Given the description of an element on the screen output the (x, y) to click on. 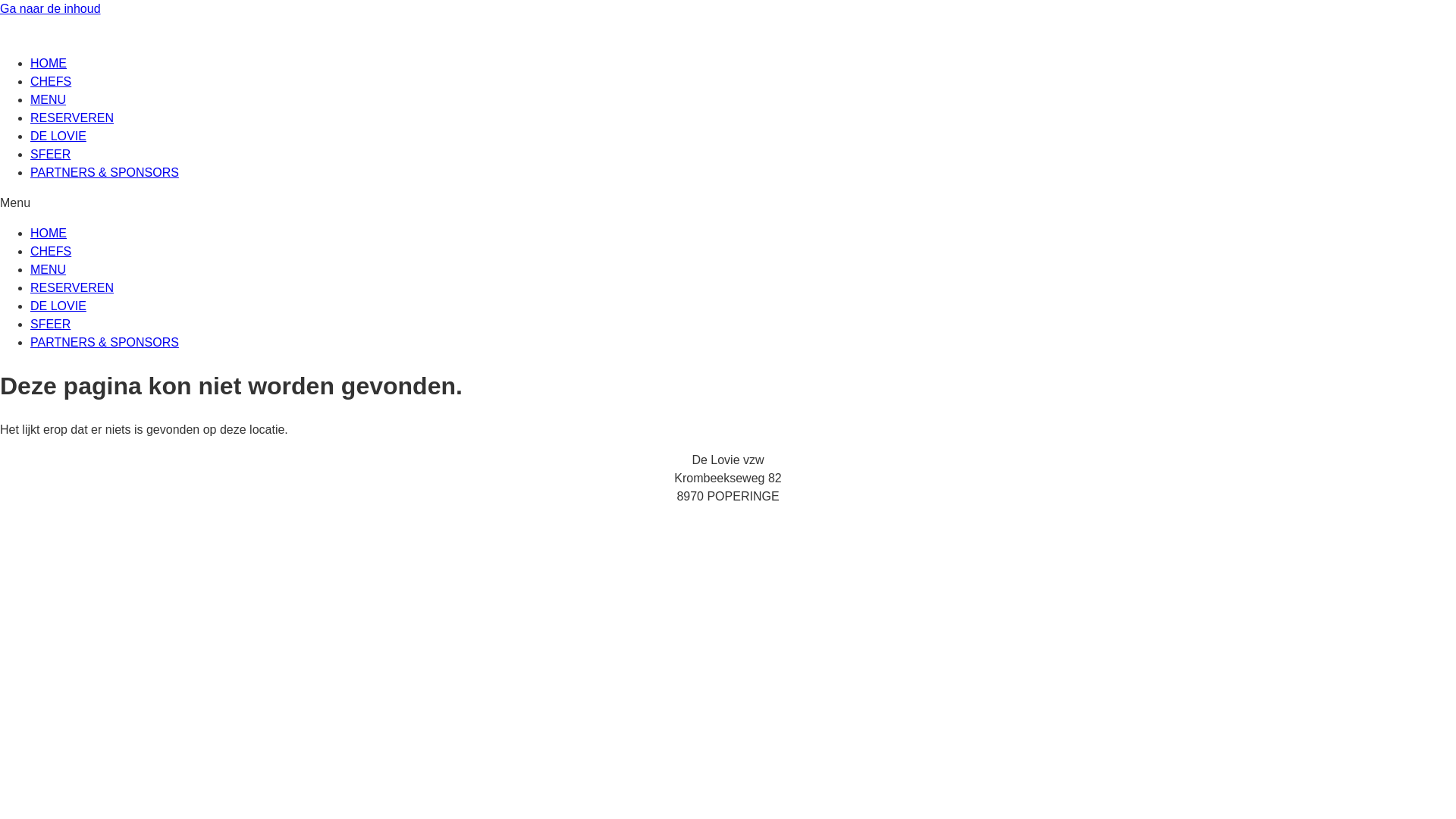
CHEFS Element type: text (50, 250)
SFEER Element type: text (50, 323)
Ga naar de inhoud Element type: text (50, 8)
HOME Element type: text (48, 62)
PARTNERS & SPONSORS Element type: text (104, 341)
MENU Element type: text (47, 99)
SFEER Element type: text (50, 153)
MENU Element type: text (47, 269)
HOME Element type: text (48, 232)
DE LOVIE Element type: text (58, 305)
CHEFS Element type: text (50, 81)
PARTNERS & SPONSORS Element type: text (104, 172)
RESERVEREN Element type: text (71, 117)
RESERVEREN Element type: text (71, 287)
chefsforcharity@delovie.be Element type: text (73, 526)
DE LOVIE Element type: text (58, 135)
